Given the description of an element on the screen output the (x, y) to click on. 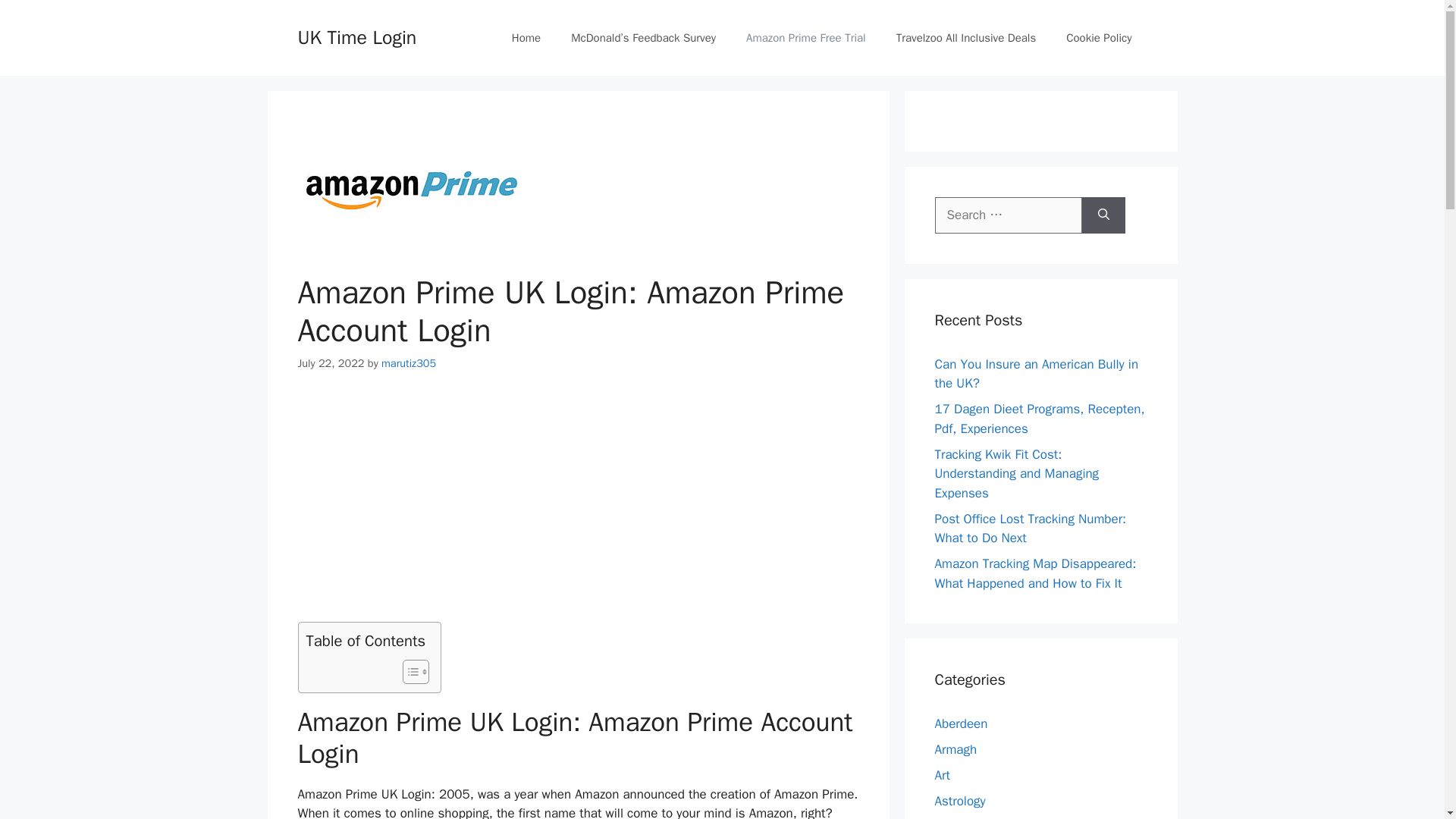
Home (526, 37)
Cookie Policy (1099, 37)
View all posts by marutiz305 (408, 363)
Armagh (955, 749)
Post Office Lost Tracking Number: What to Do Next (1029, 529)
Travelzoo All Inclusive Deals (965, 37)
Amazon Prime Free Trial (805, 37)
Astrology (959, 801)
Tracking Kwik Fit Cost: Understanding and Managing Expenses (1016, 472)
17 Dagen Dieet Programs, Recepten, Pdf, Experiences (1039, 418)
